Given the description of an element on the screen output the (x, y) to click on. 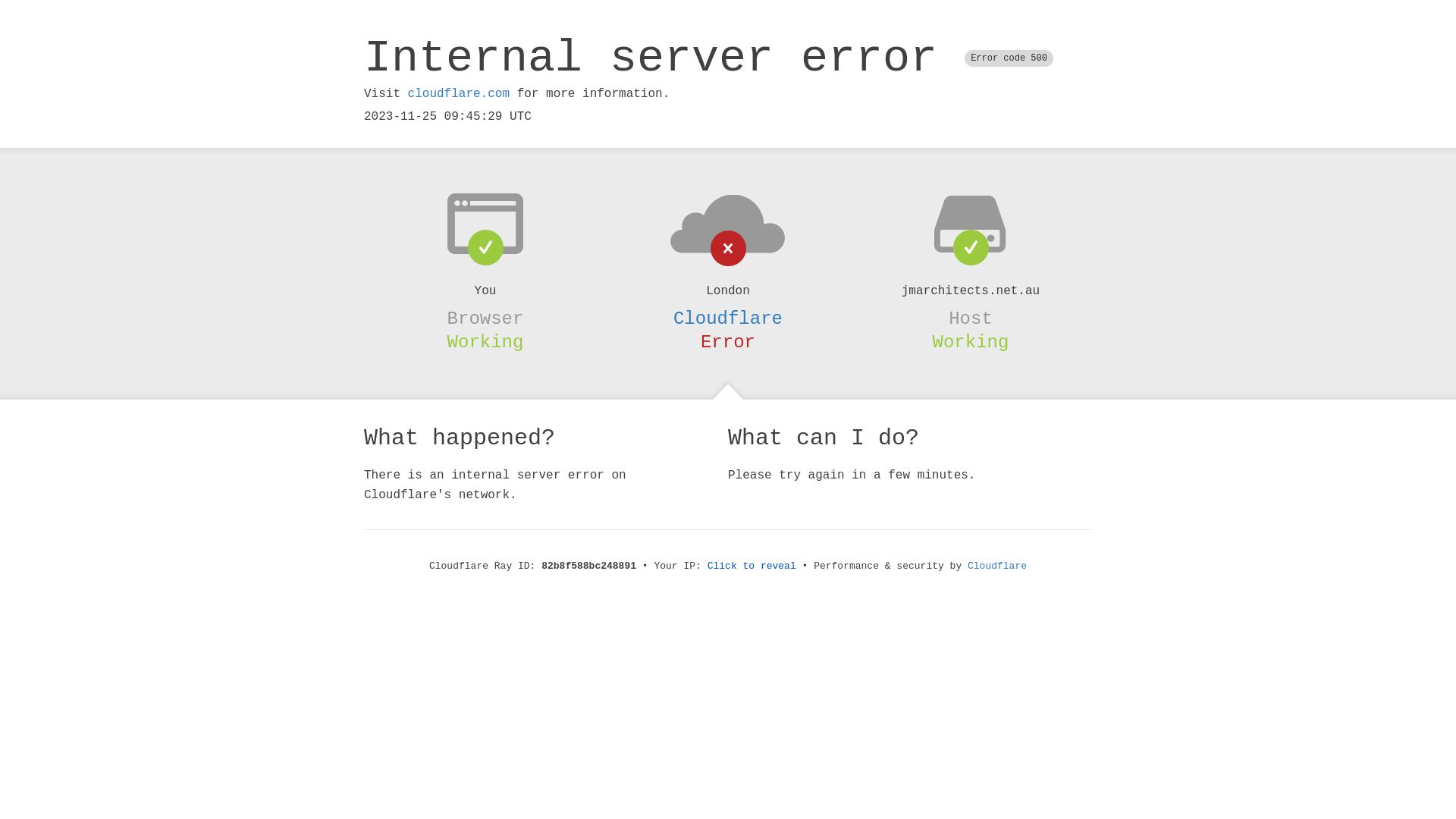
Cloudflare Element type: text (727, 318)
cloudflare.com Element type: text (458, 93)
Cloudflare Element type: text (996, 565)
Click to reveal Element type: text (751, 565)
